Given the description of an element on the screen output the (x, y) to click on. 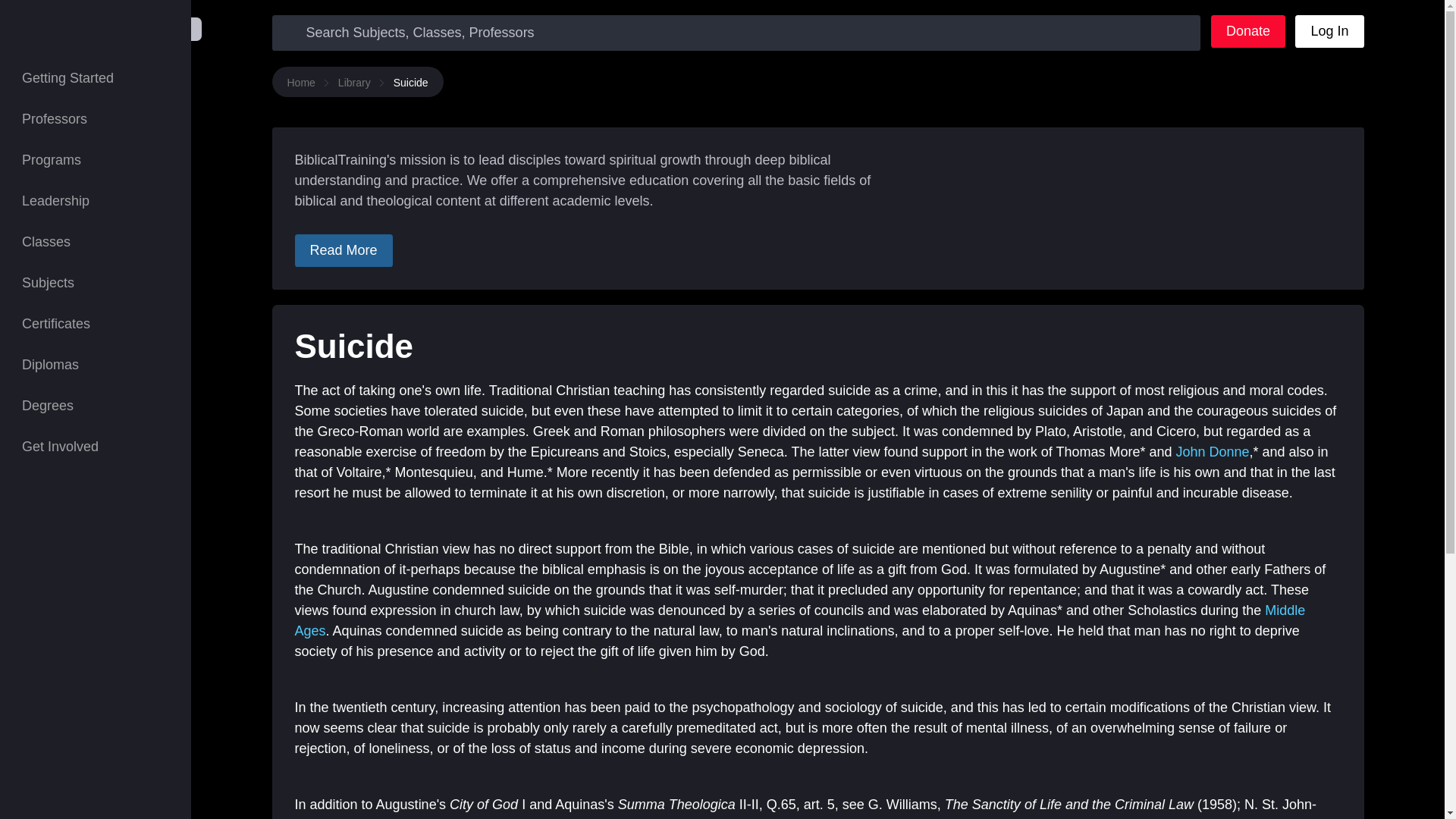
Diplomas (95, 363)
Classes (95, 241)
Certificates (95, 323)
Log In (1328, 31)
Programs (95, 159)
Log In (1328, 31)
Classes (95, 241)
Professors (95, 118)
Suicide (410, 83)
Subjects (95, 282)
